Given the description of an element on the screen output the (x, y) to click on. 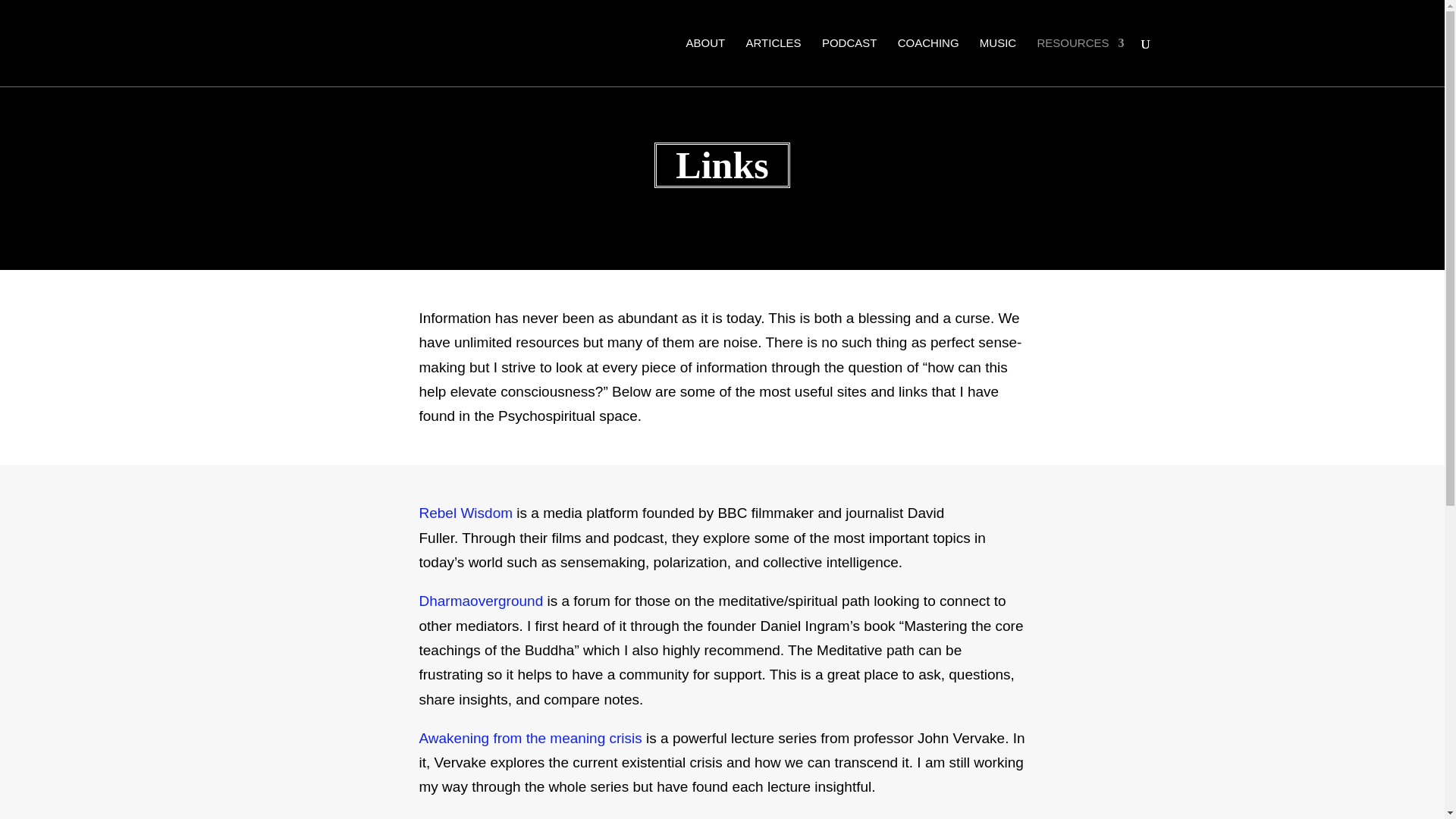
RESOURCES (1080, 59)
COACHING (928, 59)
ARTICLES (773, 59)
Rebel Wisdom (467, 512)
Awakening from the meaning crisis (530, 738)
PODCAST (849, 59)
Dharmaoverground (481, 600)
